Given the description of an element on the screen output the (x, y) to click on. 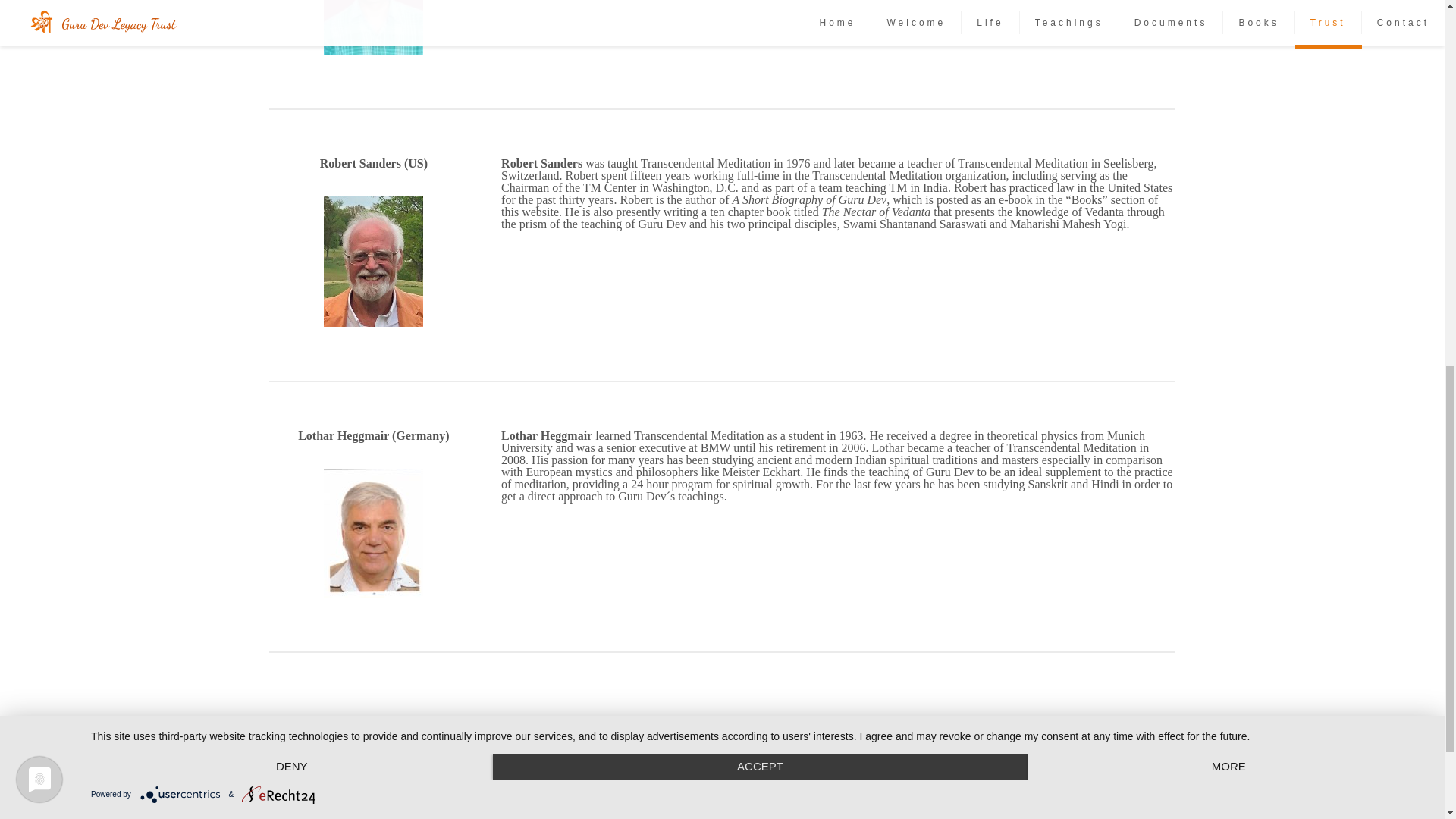
PRIVACY SETTINGS (548, 779)
SANJAY SHRIVASTAVA (373, 27)
IMPRINT (458, 779)
